Given the description of an element on the screen output the (x, y) to click on. 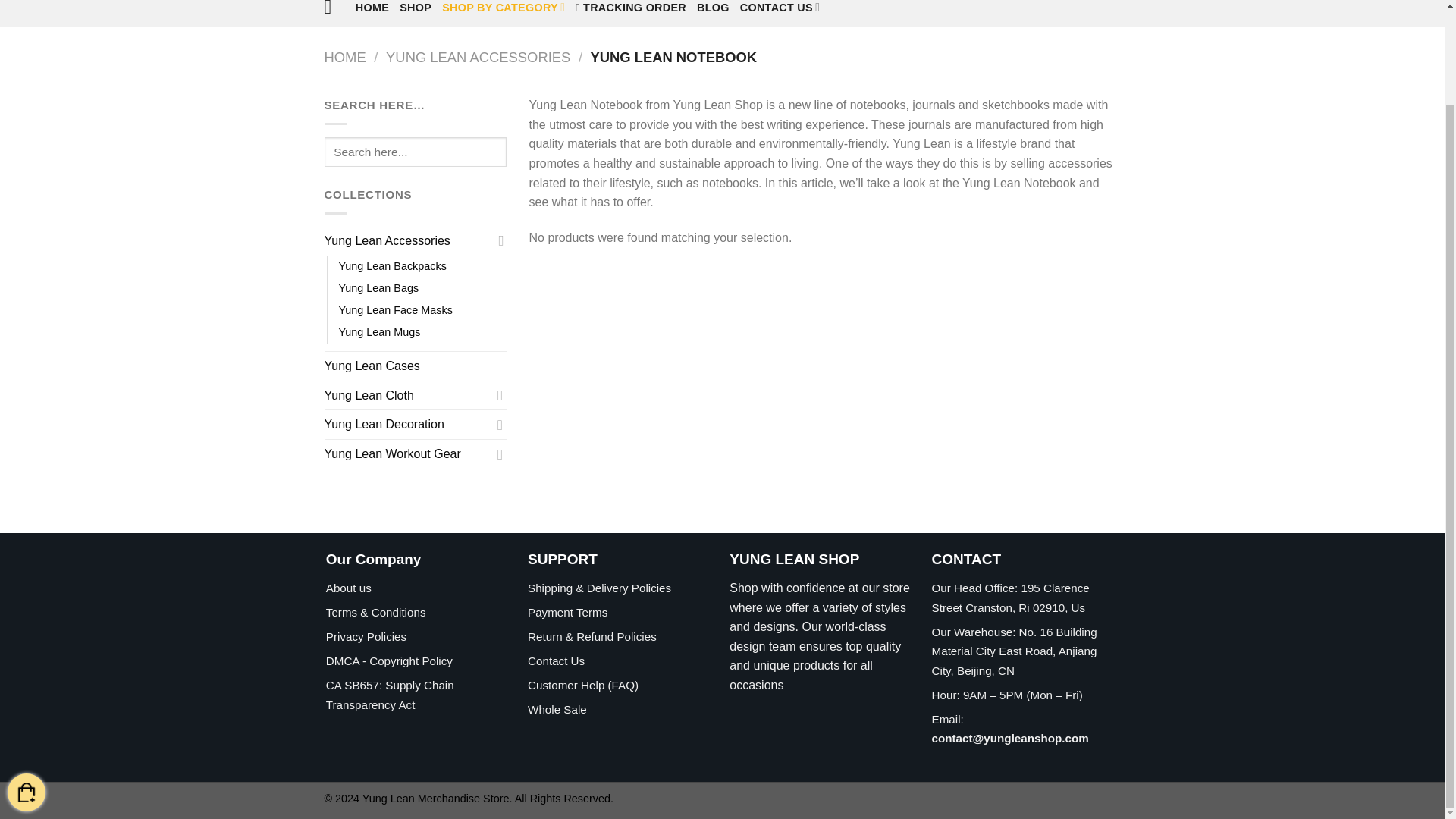
SHOP (414, 10)
HOME (371, 10)
SHOP BY CATEGORY (503, 11)
View your shopping cart (26, 684)
